Given the description of an element on the screen output the (x, y) to click on. 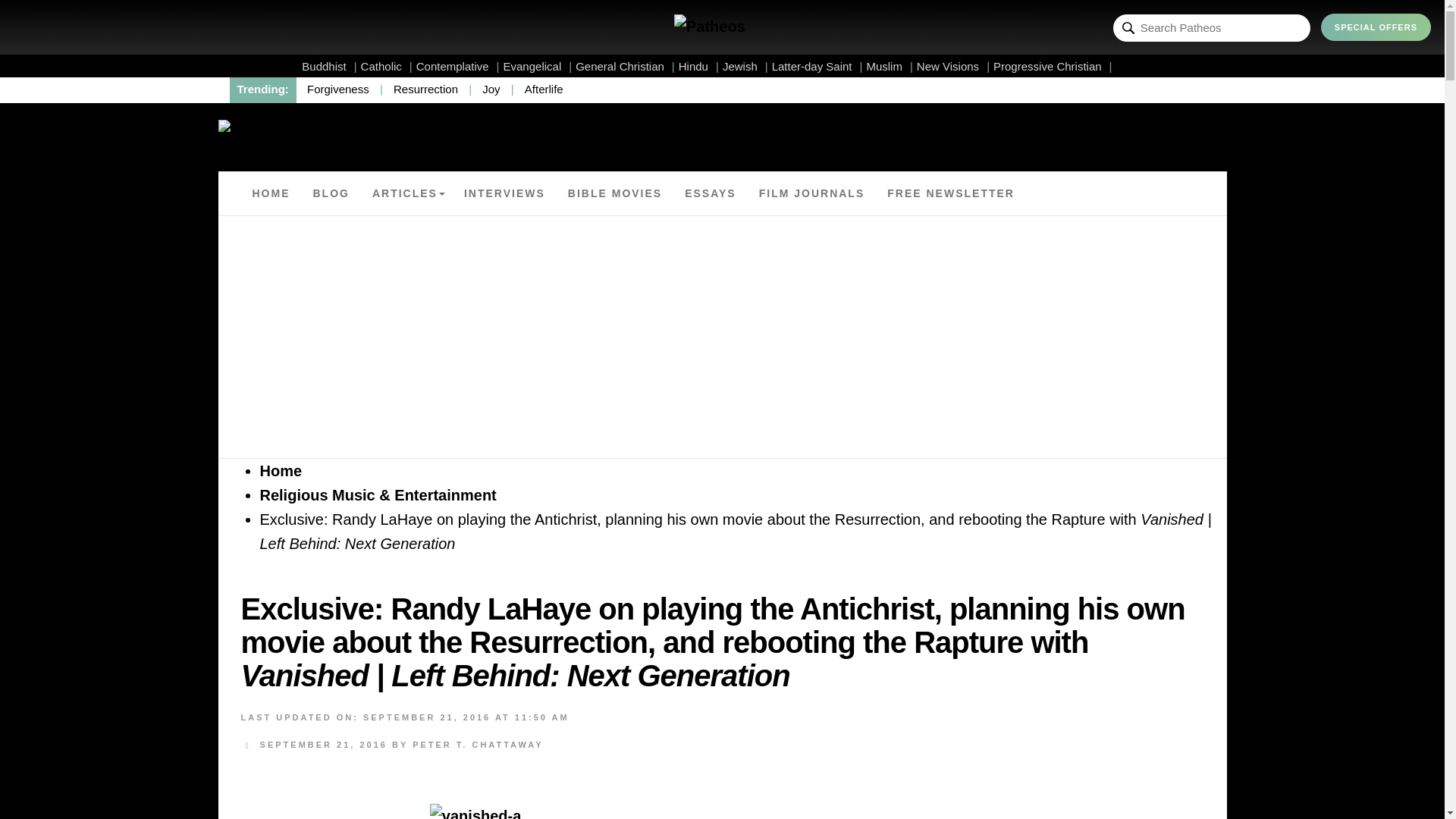
Contemplative (457, 65)
New Visions (953, 65)
Evangelical (537, 65)
Jewish (745, 65)
Catholic (386, 65)
Latter-day Saint (817, 65)
Muslim (889, 65)
Progressive Christian (1052, 65)
General Christian (625, 65)
Buddhist (328, 65)
